Given the description of an element on the screen output the (x, y) to click on. 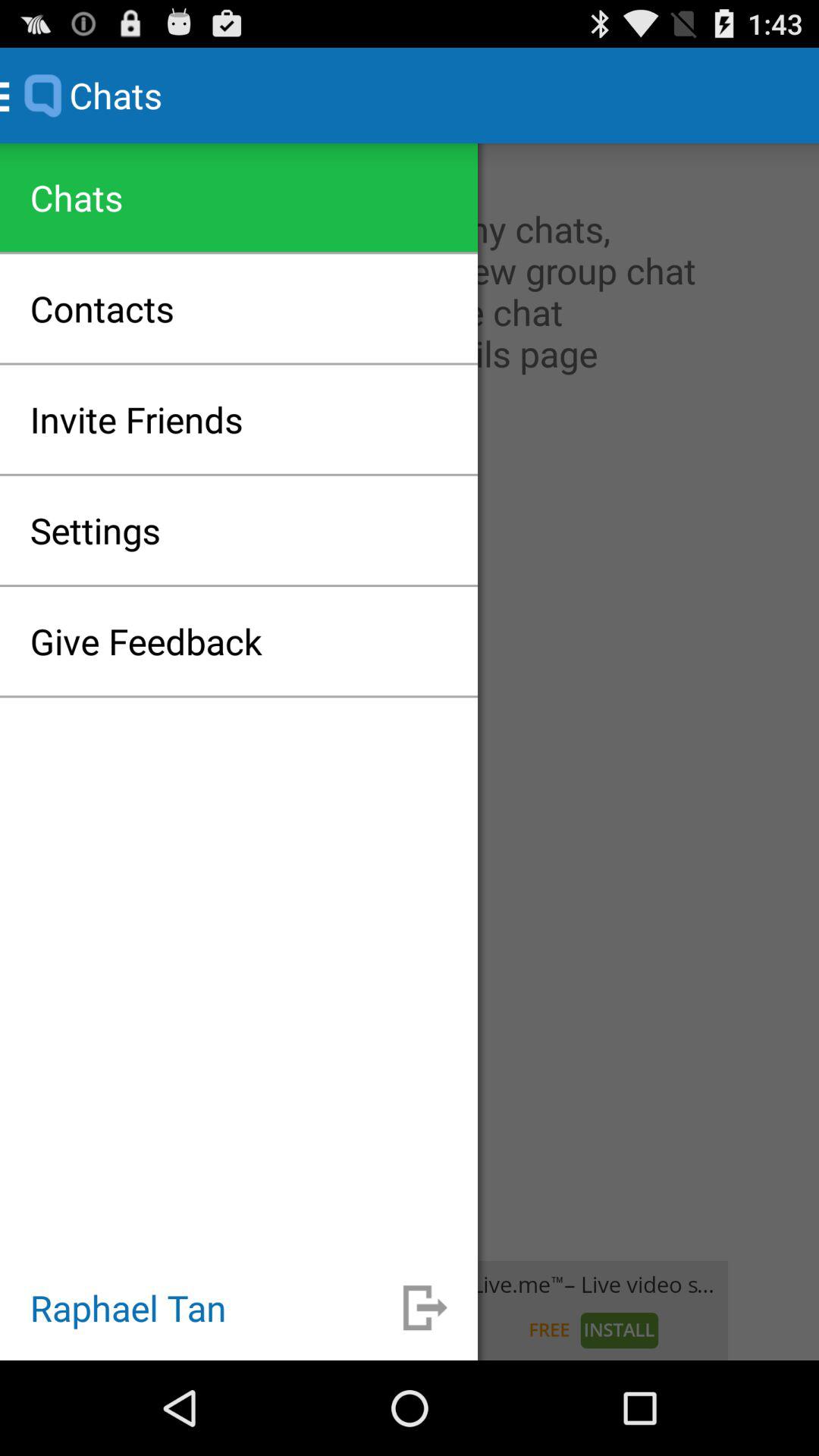
send to person (425, 1307)
